Given the description of an element on the screen output the (x, y) to click on. 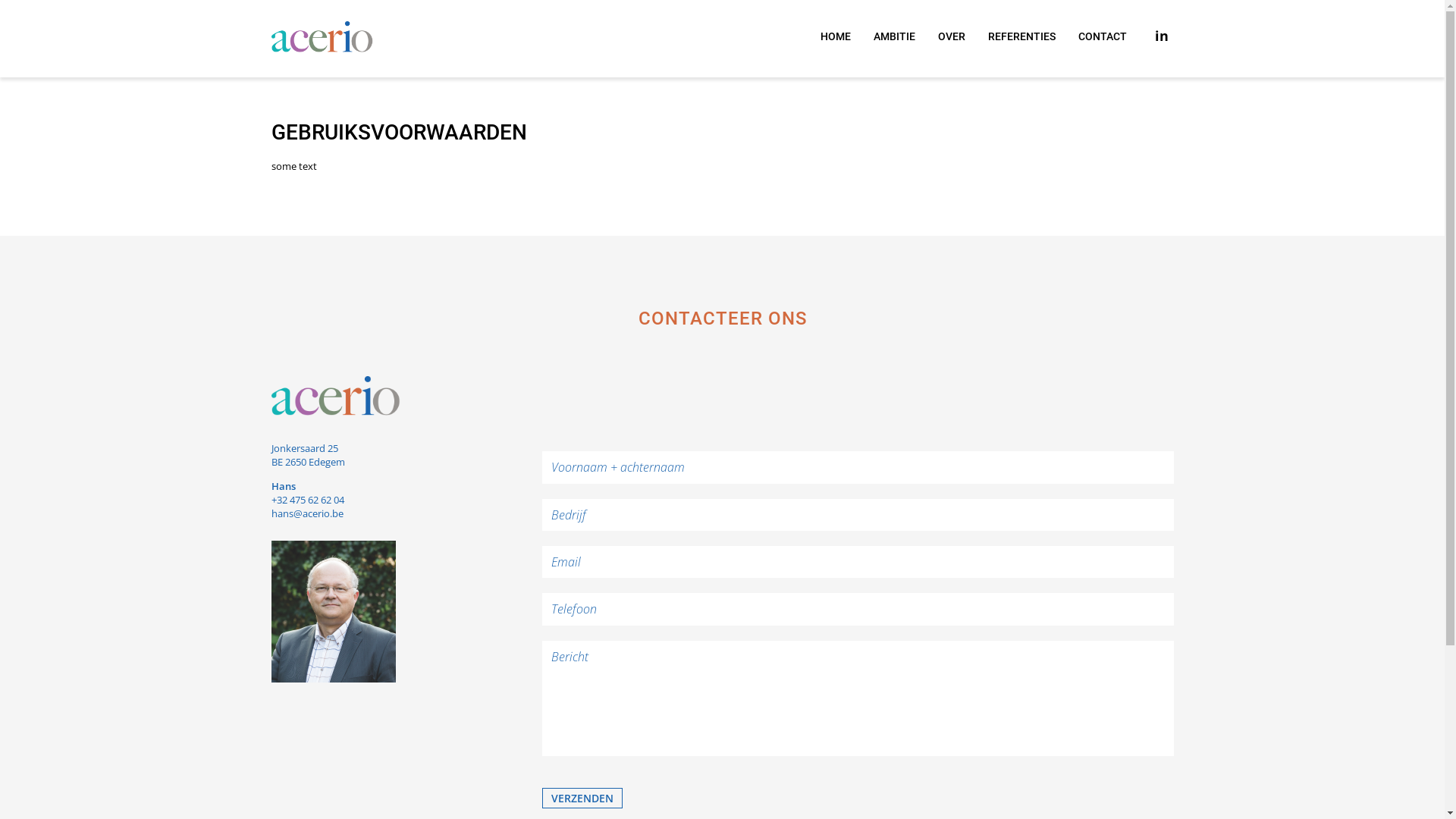
AMBITIE Element type: text (894, 36)
REFERENTIES Element type: text (1020, 36)
verzenden Element type: text (581, 797)
CONTACT Element type: text (1102, 36)
in Element type: text (1160, 35)
HOME Element type: text (835, 36)
OVER Element type: text (950, 36)
